Given the description of an element on the screen output the (x, y) to click on. 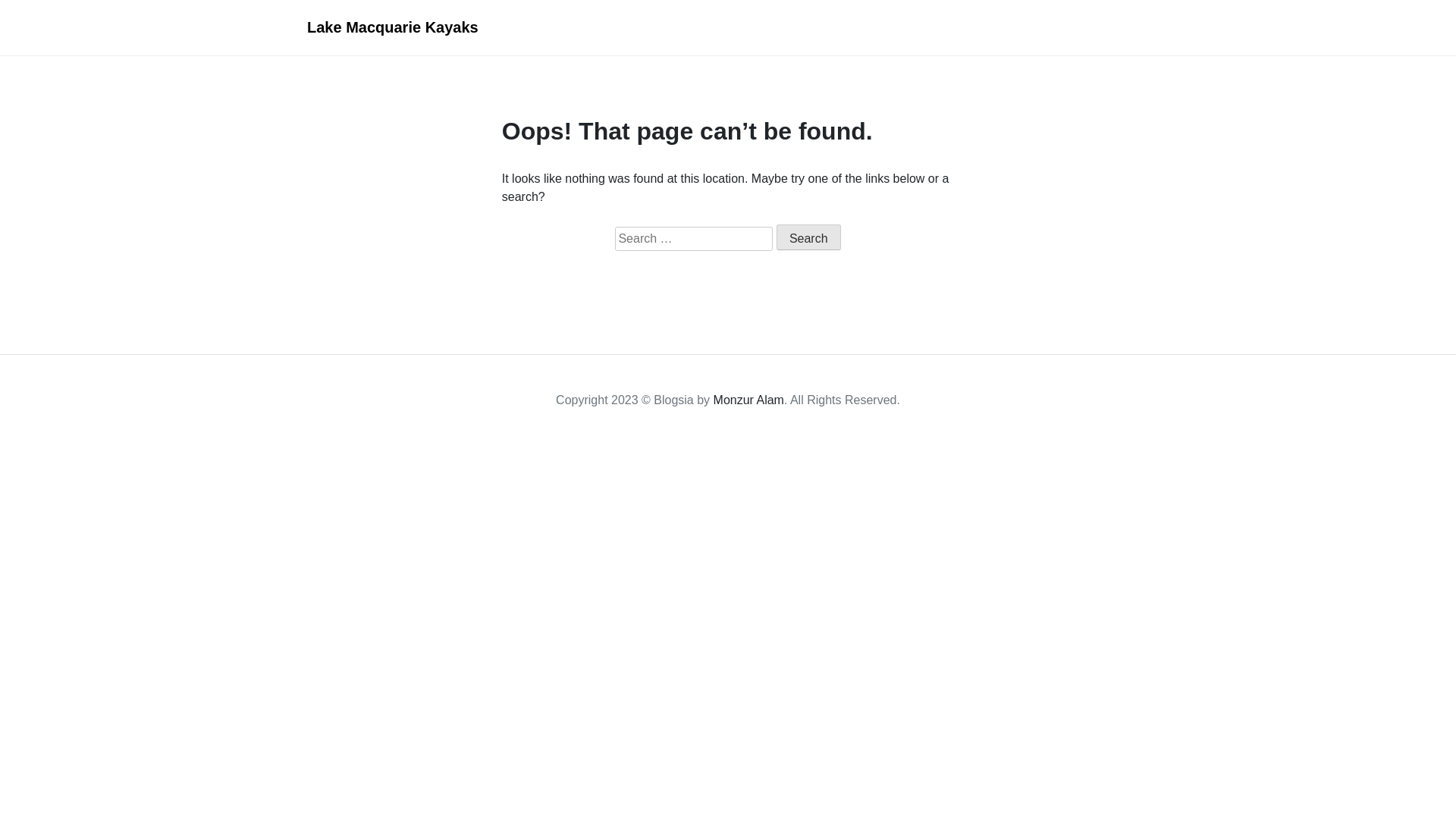
Search Element type: text (808, 237)
Lake Macquarie Kayaks Element type: text (392, 27)
Monzur Alam Element type: text (748, 399)
